Given the description of an element on the screen output the (x, y) to click on. 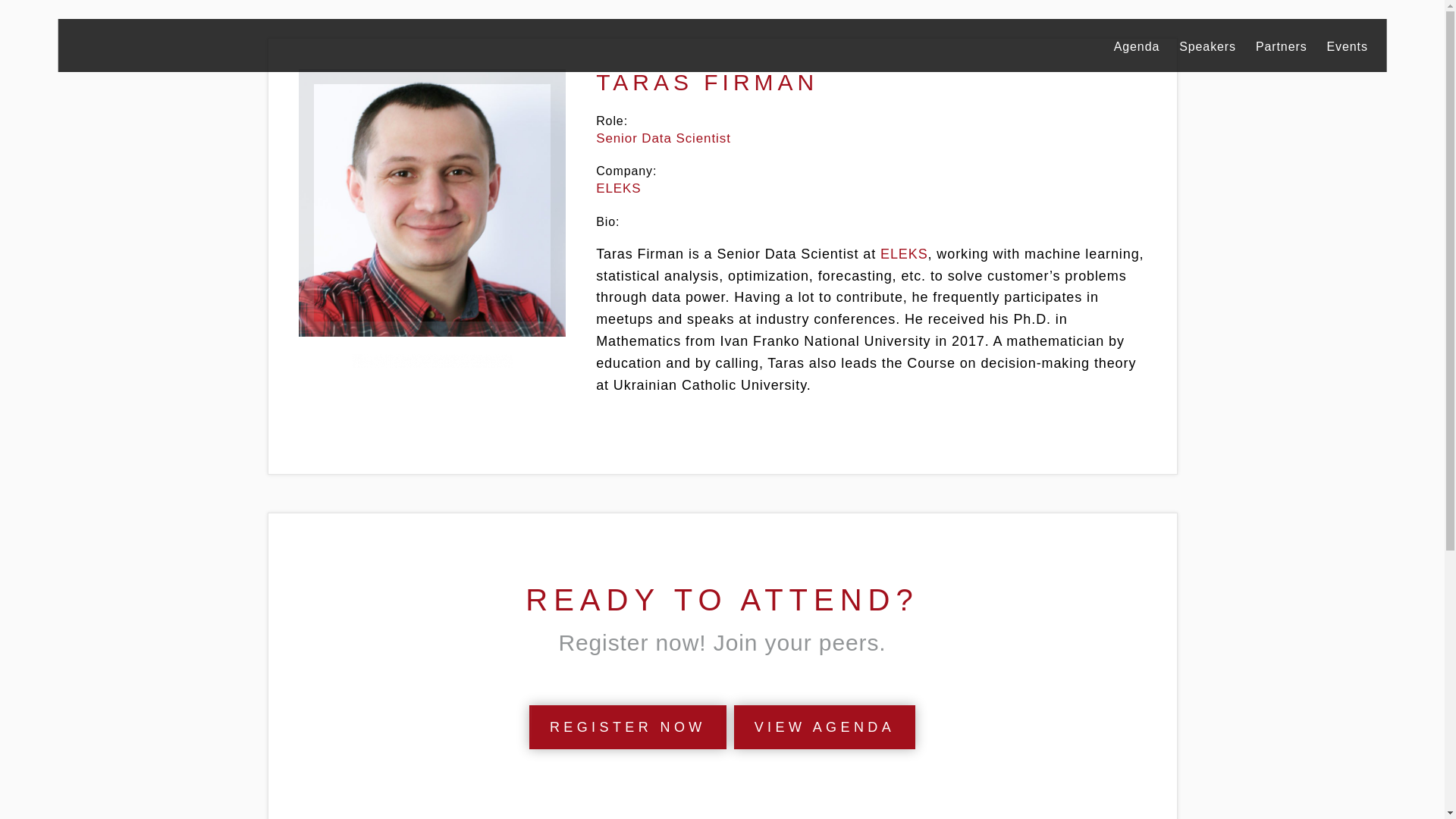
Register (627, 727)
VIEW AGENDA (824, 727)
Partners (1281, 45)
Events (1346, 45)
View Agenda (824, 727)
ELEKS (904, 253)
Speakers (1207, 45)
Agenda (1136, 45)
REGISTER NOW (627, 727)
